Given the description of an element on the screen output the (x, y) to click on. 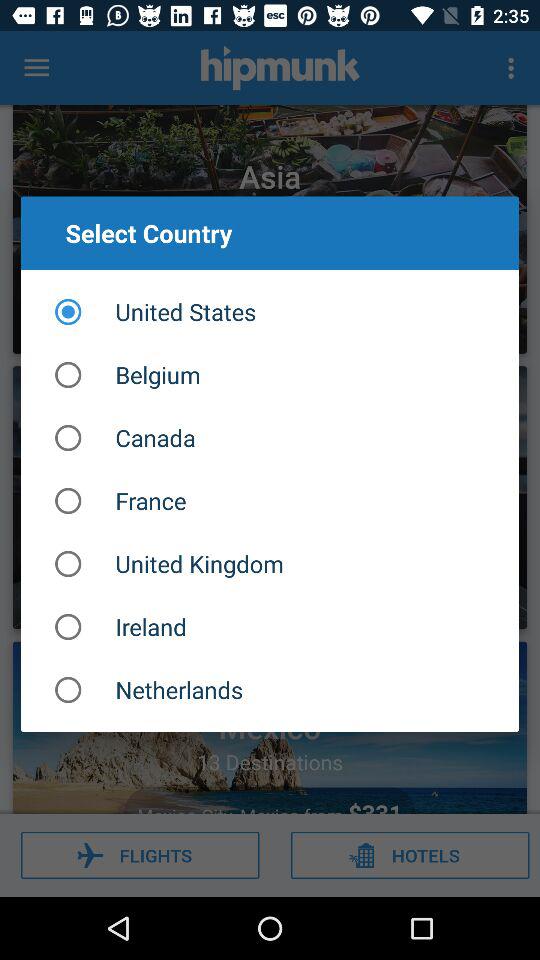
scroll to united states icon (270, 311)
